Given the description of an element on the screen output the (x, y) to click on. 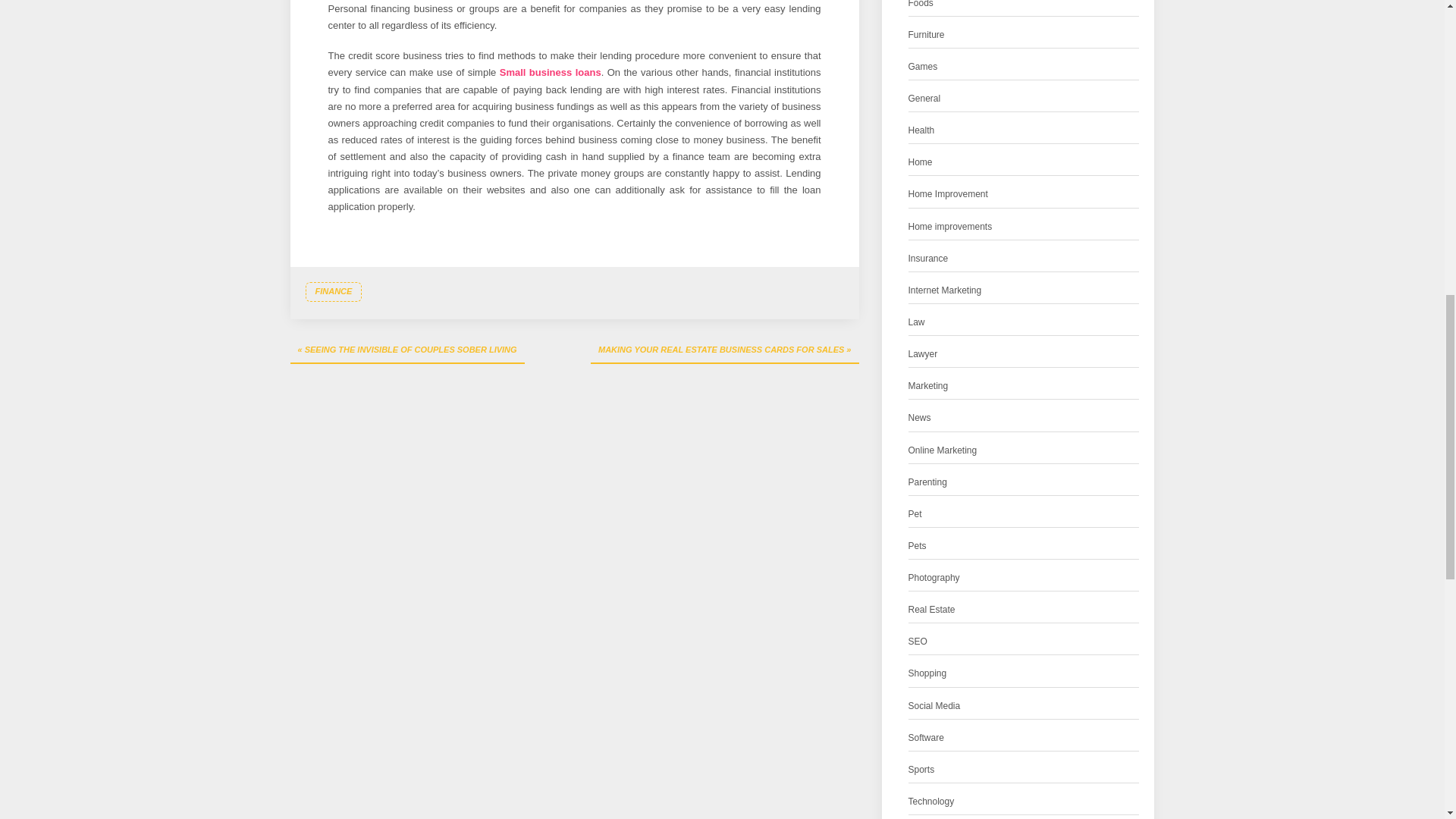
MAKING YOUR REAL ESTATE BUSINESS CARDS FOR SALES (725, 350)
Furniture (926, 35)
Home Improvement (948, 194)
Small business loans (550, 71)
Foods (920, 5)
Health (921, 130)
Home (920, 162)
SEEING THE INVISIBLE OF COUPLES SOBER LIVING (406, 350)
General (924, 98)
Games (922, 66)
